Given the description of an element on the screen output the (x, y) to click on. 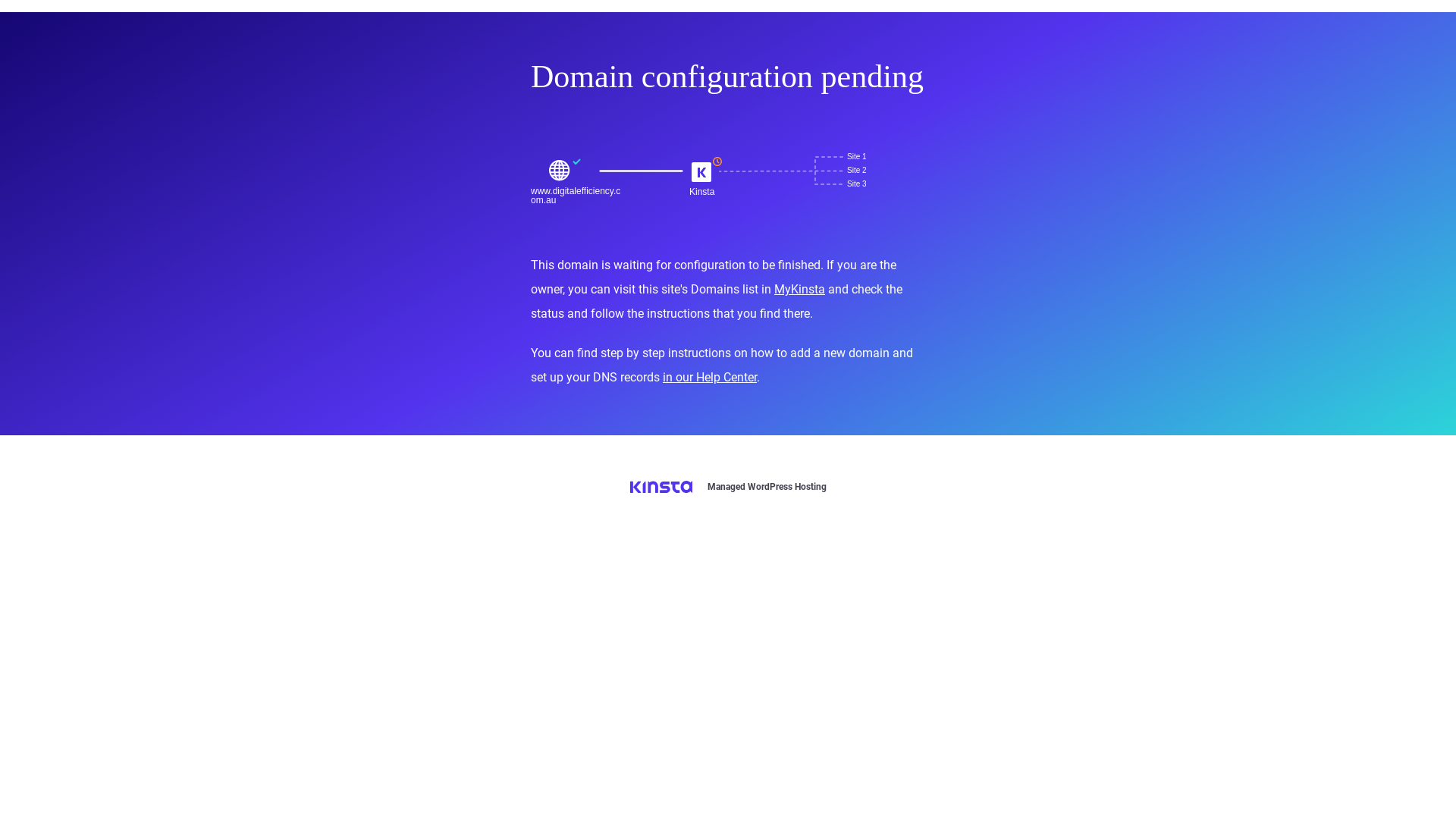
MyKinsta Element type: text (799, 289)
in our Help Center Element type: text (709, 377)
Kinsta logo Element type: hover (660, 486)
